Given the description of an element on the screen output the (x, y) to click on. 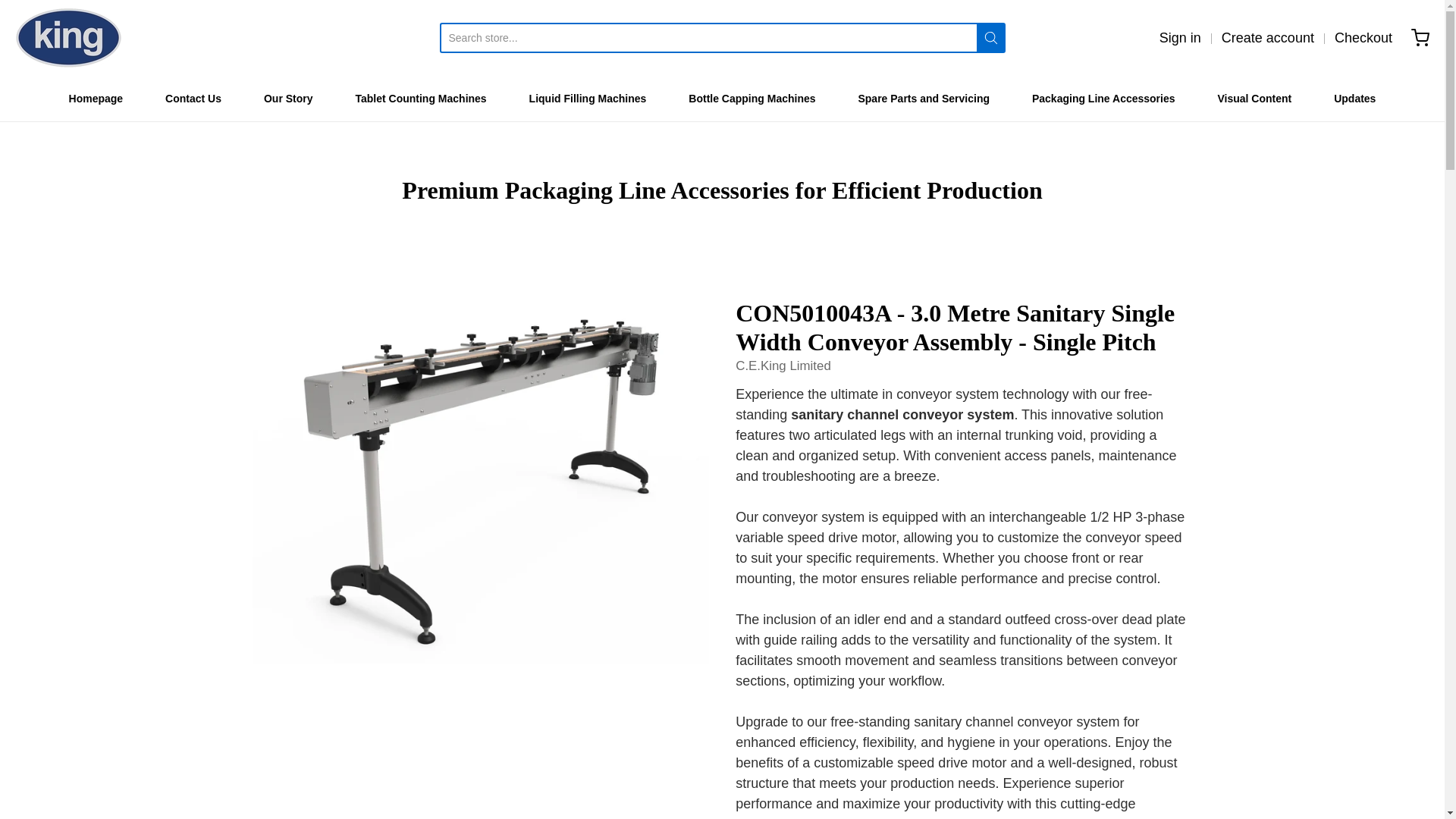
Create account (1267, 37)
Sign in (1179, 37)
C.E.King Limited (68, 37)
Contact Us (193, 97)
Homepage (95, 97)
Checkout (1363, 37)
